Given the description of an element on the screen output the (x, y) to click on. 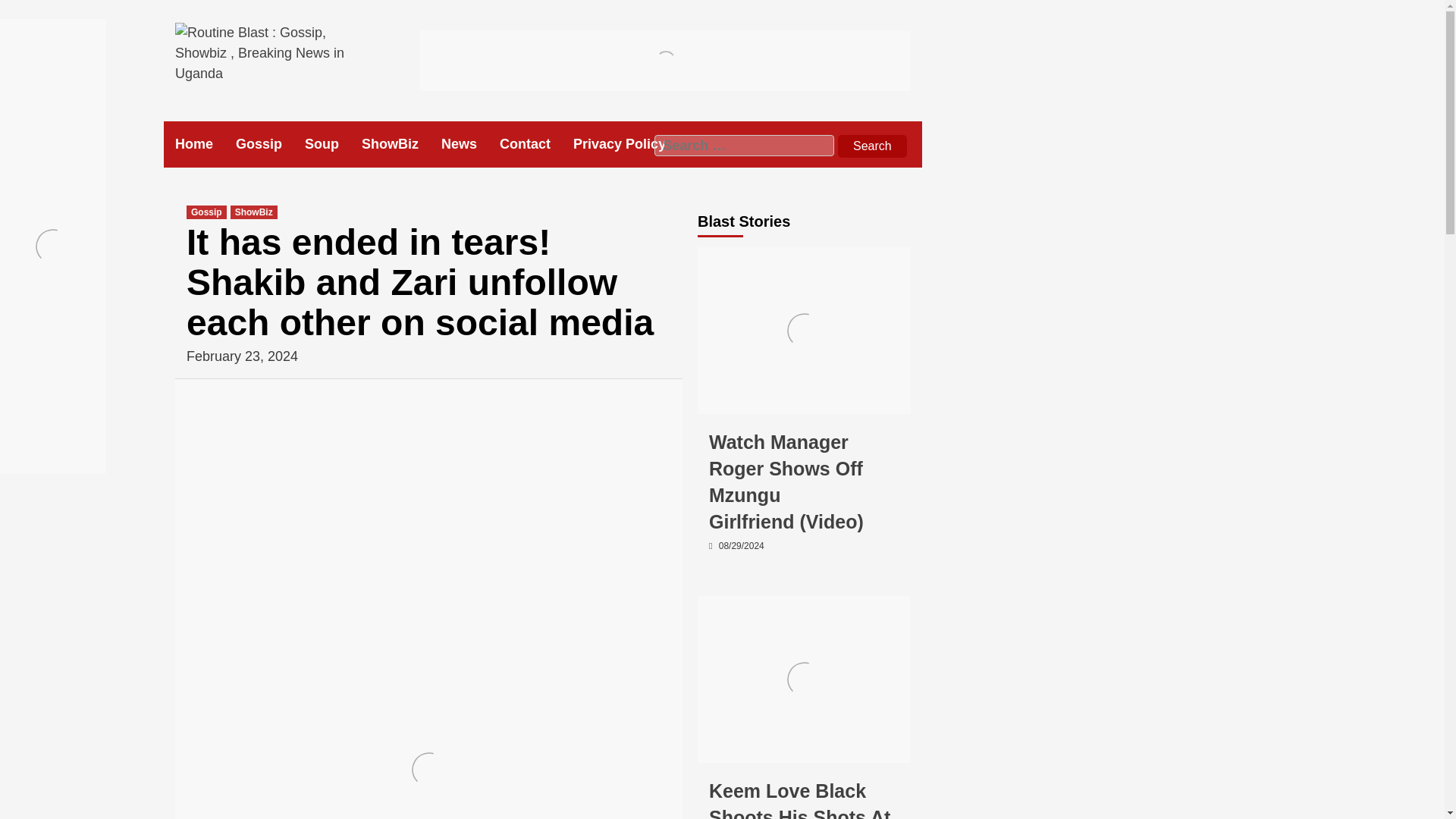
News (470, 144)
Gossip (269, 144)
Gossip (206, 212)
Contact (536, 144)
Soup (332, 144)
ShowBiz (772, 748)
Search (872, 146)
ShowBiz (254, 212)
Gossip (724, 748)
Home (204, 144)
